Given the description of an element on the screen output the (x, y) to click on. 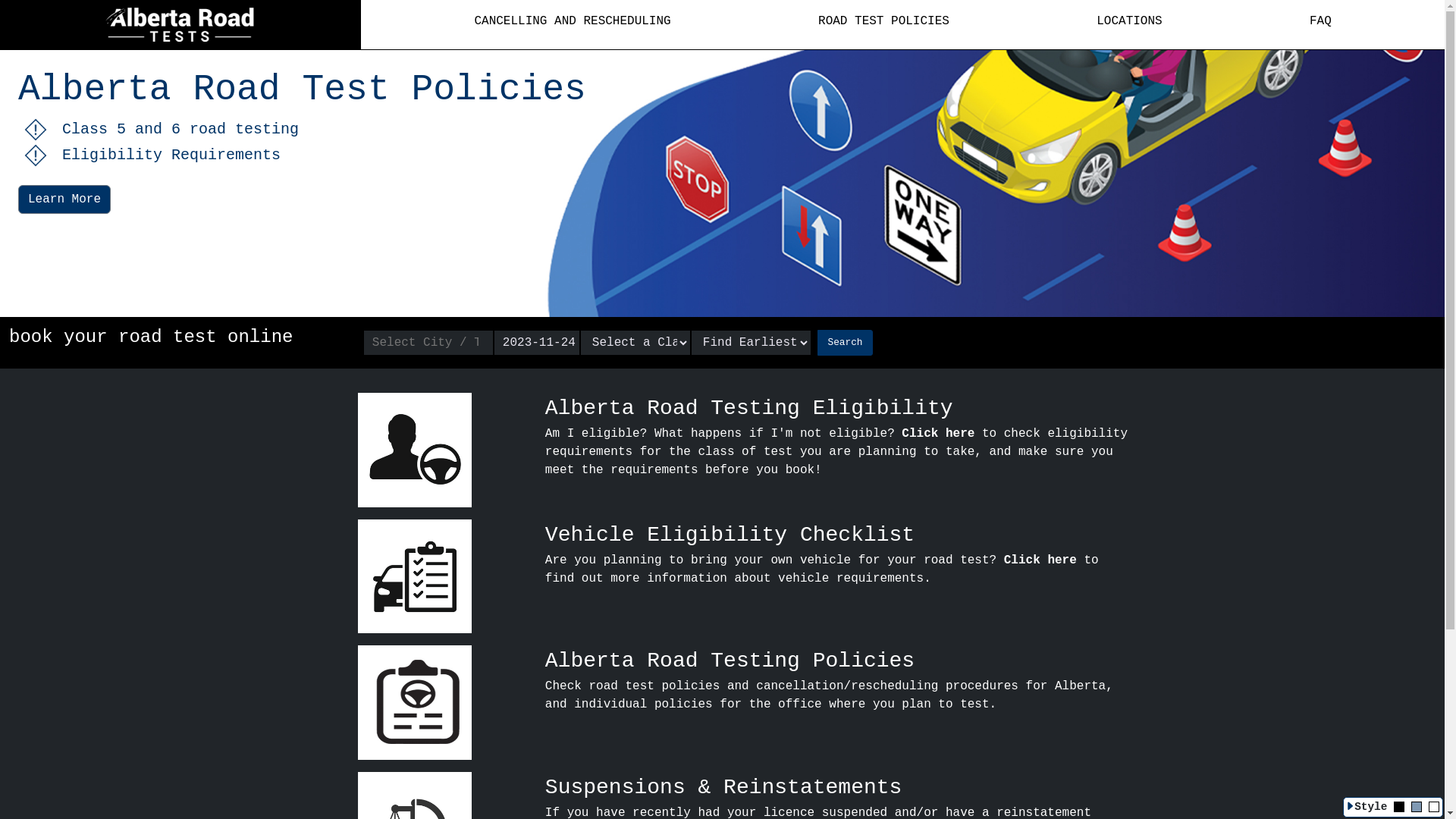
LOCATIONS Element type: text (1128, 21)
CANCELLING AND RESCHEDULING Element type: text (571, 21)
Eligibility Requirements Element type: text (722, 155)
Alberta Road Testing Policies Element type: text (729, 660)
Learn More Element type: text (64, 199)
Click here Element type: text (937, 433)
Vehicle Eligibility Checklist Element type: text (729, 534)
FAQ Element type: text (1320, 21)
Alberta Road Testing Eligibility Element type: text (749, 408)
Search Element type: text (844, 341)
Suspensions & Reinstatements Element type: text (723, 787)
Class 5 and 6 road testing Element type: text (722, 129)
Click here Element type: text (1040, 560)
ROAD TEST POLICIES Element type: text (883, 21)
Alberta Road Tests Element type: hover (180, 24)
